Given the description of an element on the screen output the (x, y) to click on. 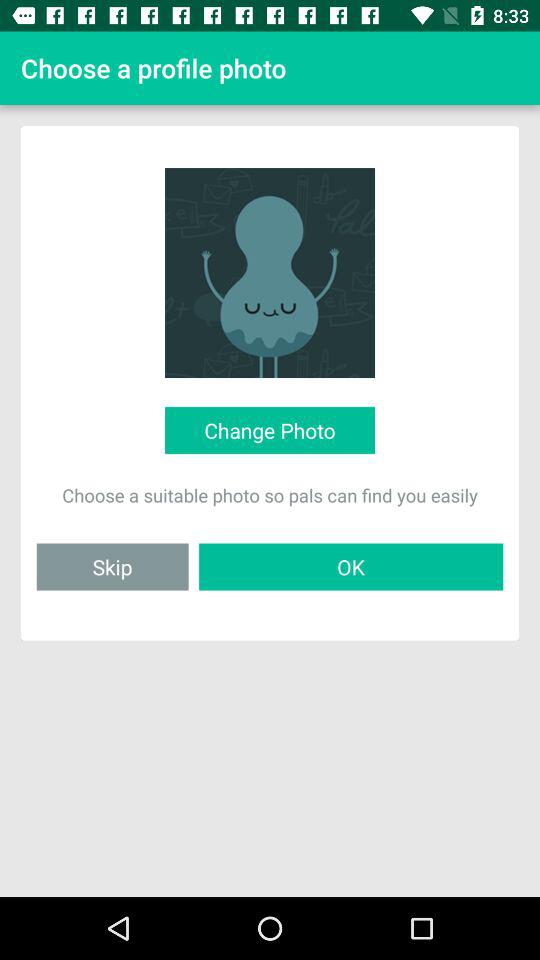
launch item to the right of the skip (351, 566)
